Given the description of an element on the screen output the (x, y) to click on. 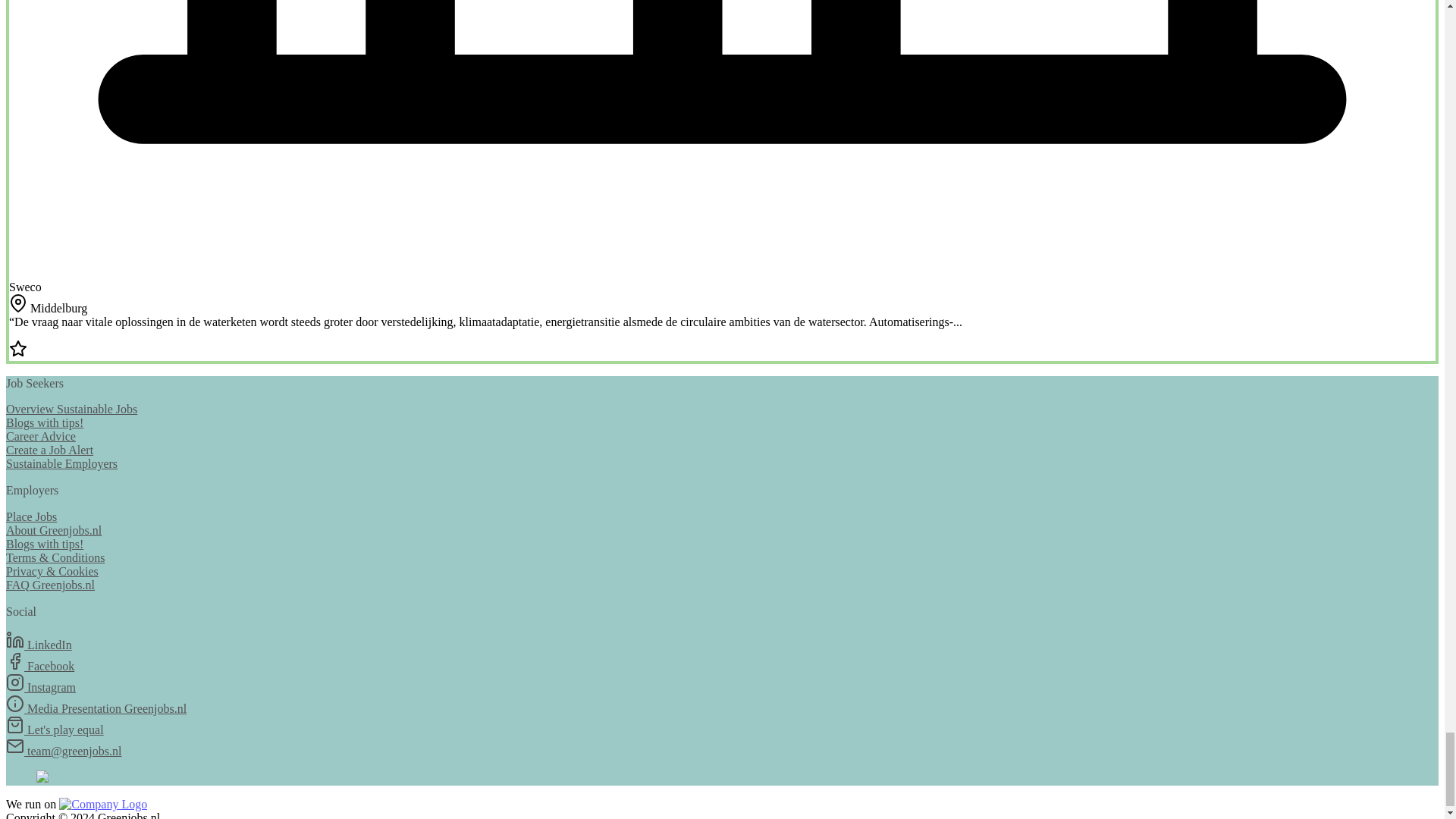
Career Advice (40, 436)
Overview Sustainable Jobs (70, 408)
Create a Job Alert (49, 449)
FAQ Greenjobs.nl (49, 584)
Sustainable Employers (61, 463)
Instagram (40, 686)
Let's play equal (54, 729)
Place Jobs (30, 516)
Blogs with tips! (43, 543)
Facebook (39, 666)
